Given the description of an element on the screen output the (x, y) to click on. 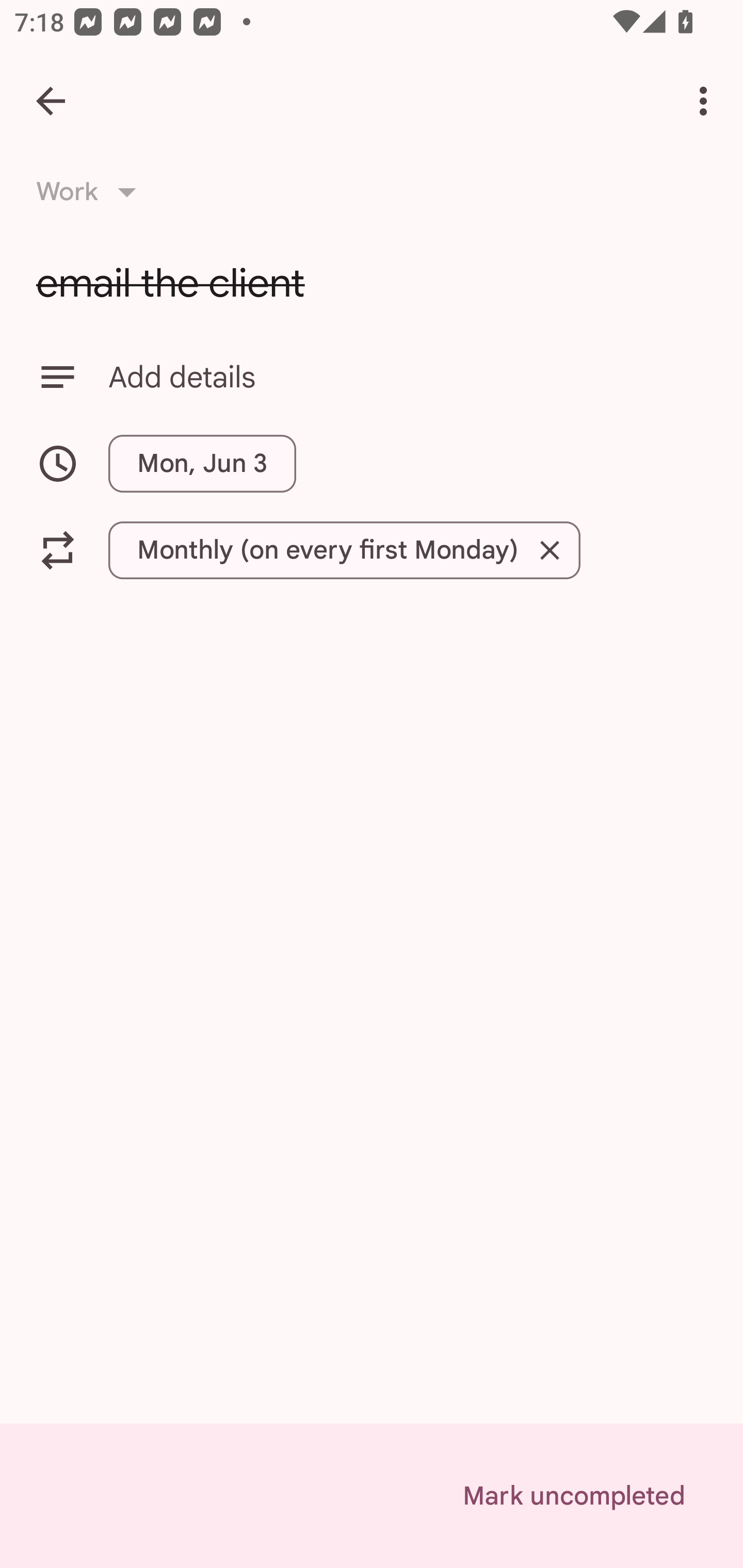
Back (50, 101)
More options (706, 101)
Work List, Work selected, 1 of 19 (92, 191)
email the client (371, 283)
Add details (371, 376)
Add details (407, 376)
Mon, Jun 3 (371, 463)
Mon, Jun 3 (202, 463)
Monthly (on every first Monday) End repeating (371, 550)
Monthly (on every first Monday) End repeating (344, 550)
Mark uncompleted (573, 1495)
